Given the description of an element on the screen output the (x, y) to click on. 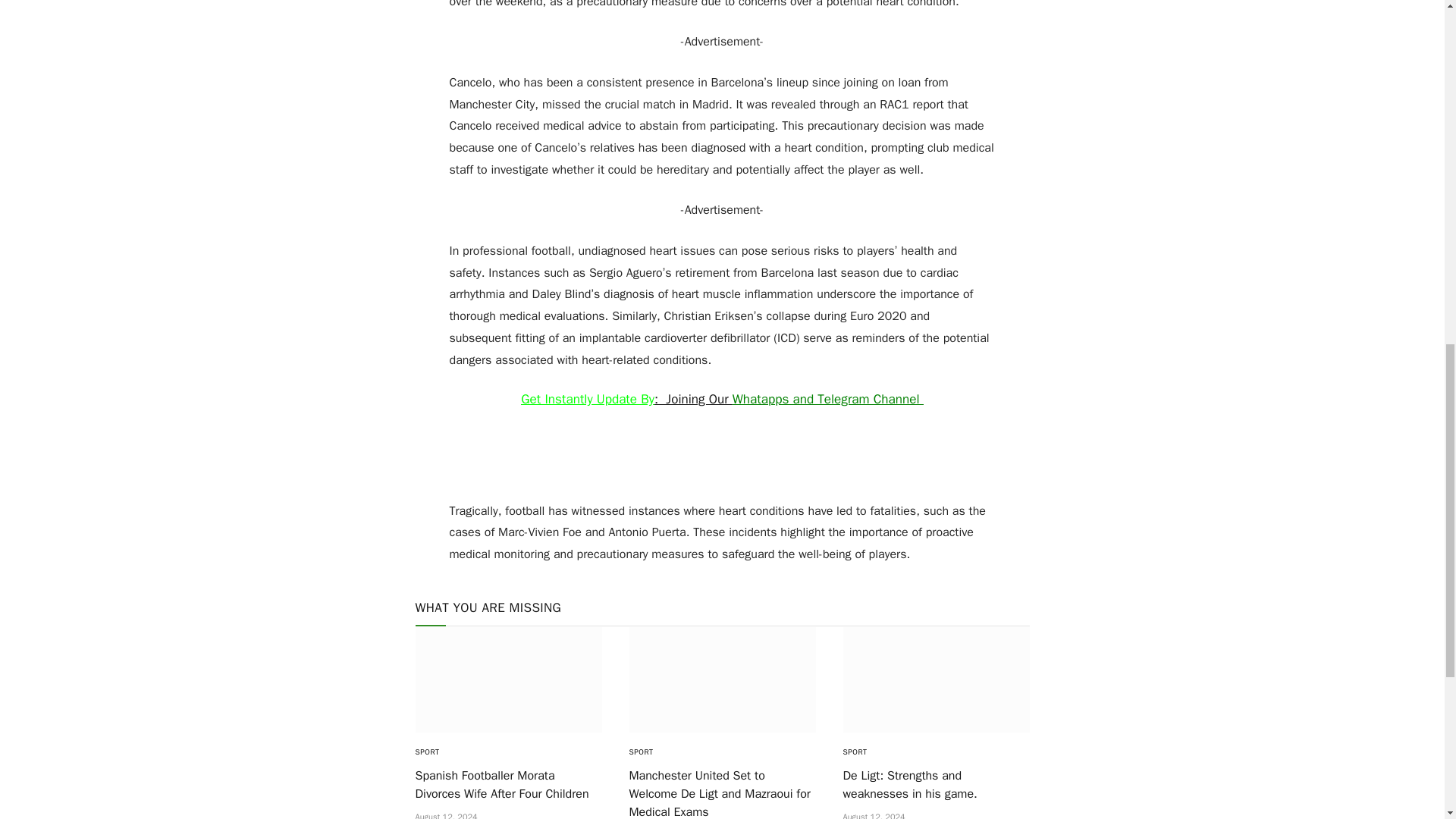
Spanish Footballer Morata Divorces Wife After Four Children (508, 679)
Whatapps and Telegram Channel  (827, 399)
De Ligt: Strengths and weaknesses in his game. (936, 679)
